Given the description of an element on the screen output the (x, y) to click on. 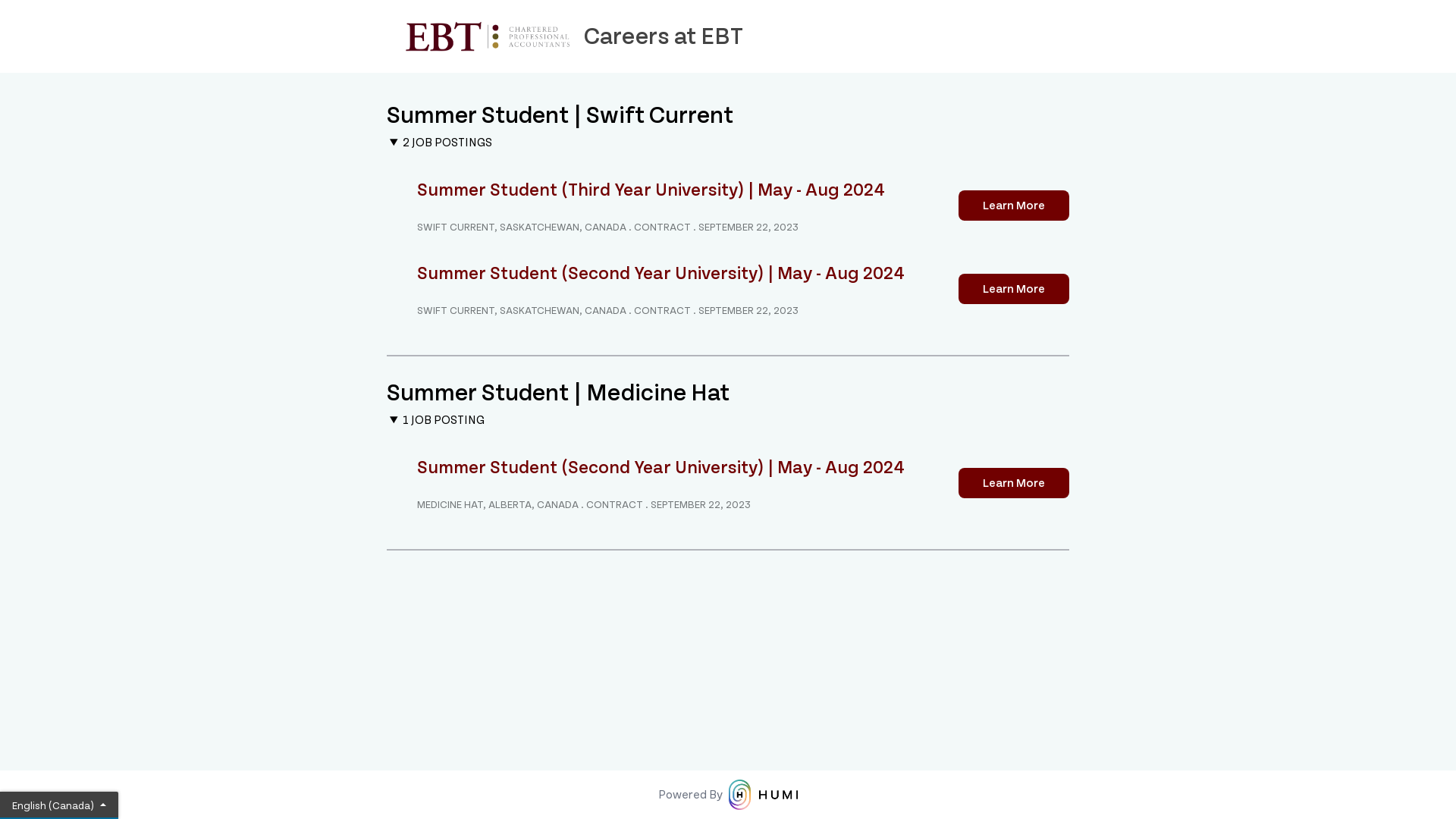
Summer Student (Second Year University) | May - Aug 2024 Element type: text (660, 272)
Learn More Element type: text (1013, 288)
Summer Student (Third Year University) | May - Aug 2024 Element type: text (650, 189)
Summer Student (Second Year University) | May - Aug 2024 Element type: text (660, 467)
Learn More Element type: text (1013, 482)
Powered By Element type: text (727, 794)
Careers at EBT Element type: text (727, 36)
Learn More Element type: text (1013, 205)
